Given the description of an element on the screen output the (x, y) to click on. 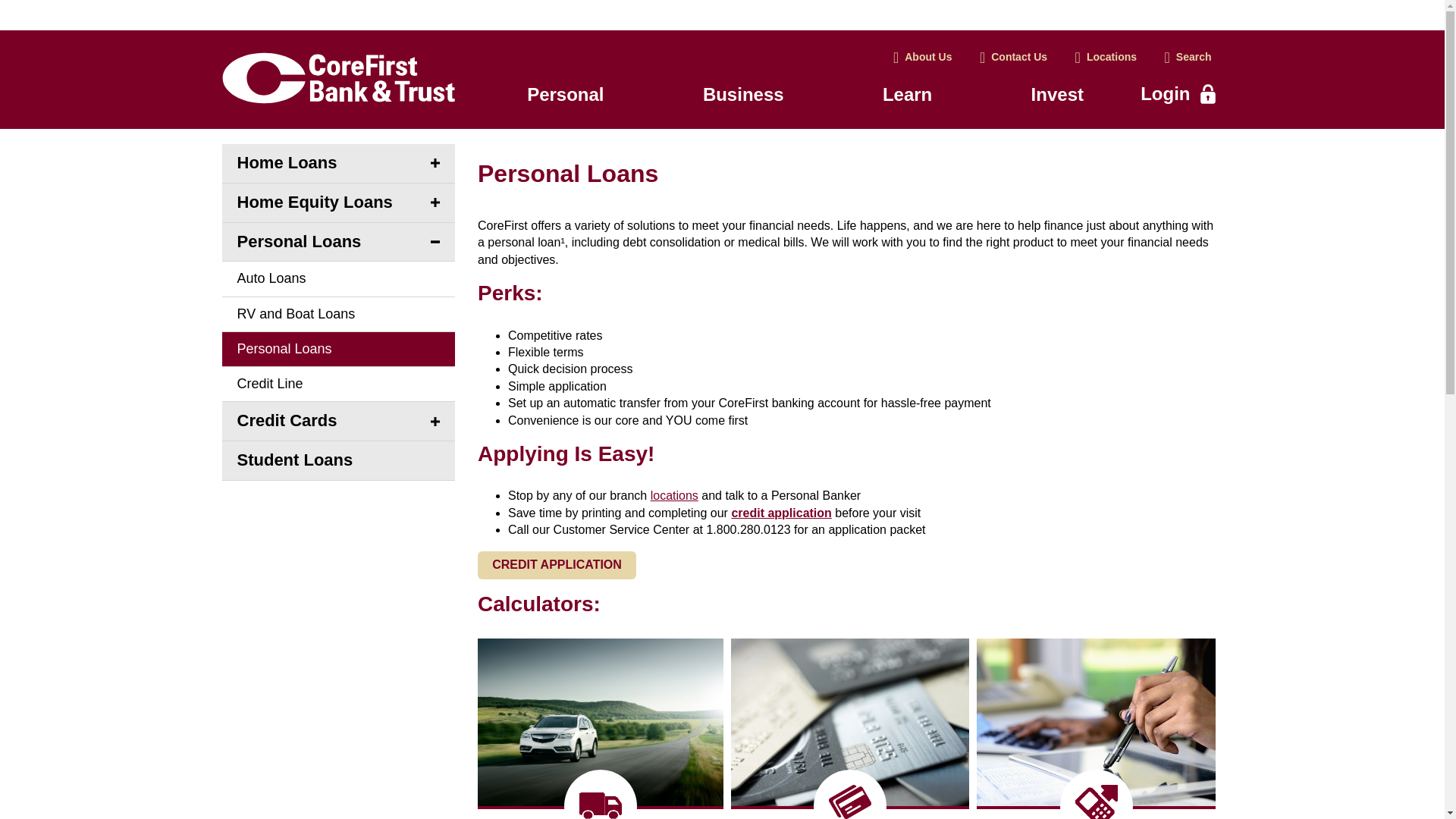
credit application (780, 512)
Credit Application (556, 565)
About Us (922, 57)
Contact Us (1013, 57)
Personal (565, 95)
Search (1188, 57)
Locations (1106, 57)
